Given the description of an element on the screen output the (x, y) to click on. 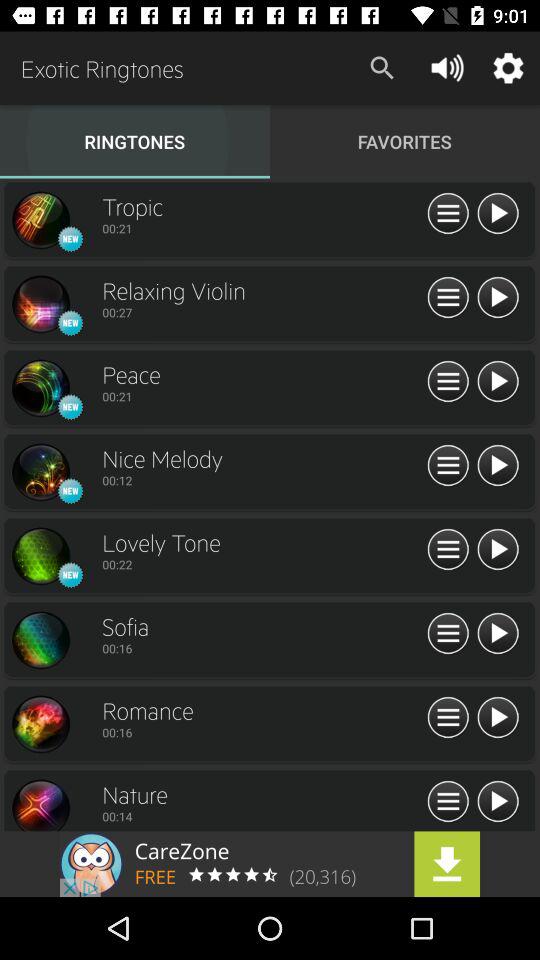
drop down menu (447, 465)
